Given the description of an element on the screen output the (x, y) to click on. 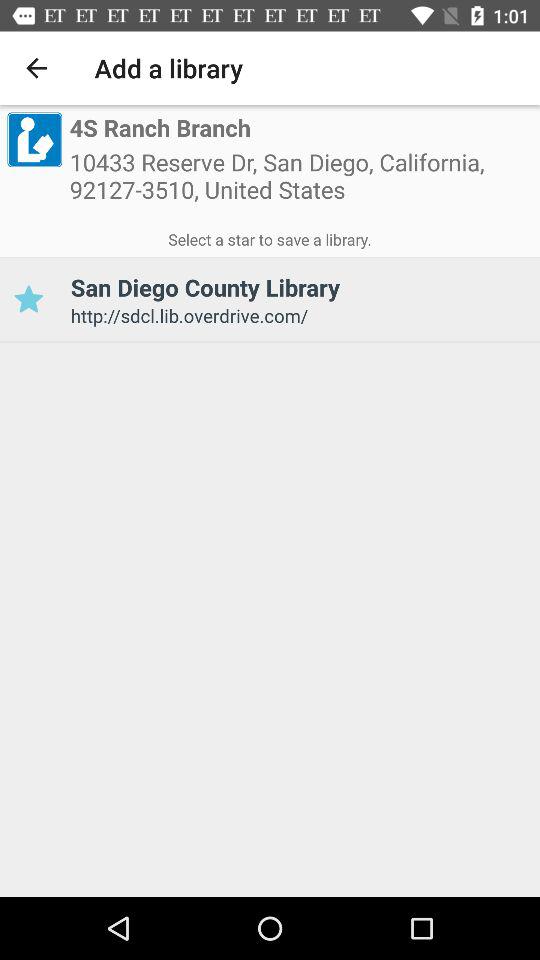
flip to http sdcl lib icon (298, 315)
